Given the description of an element on the screen output the (x, y) to click on. 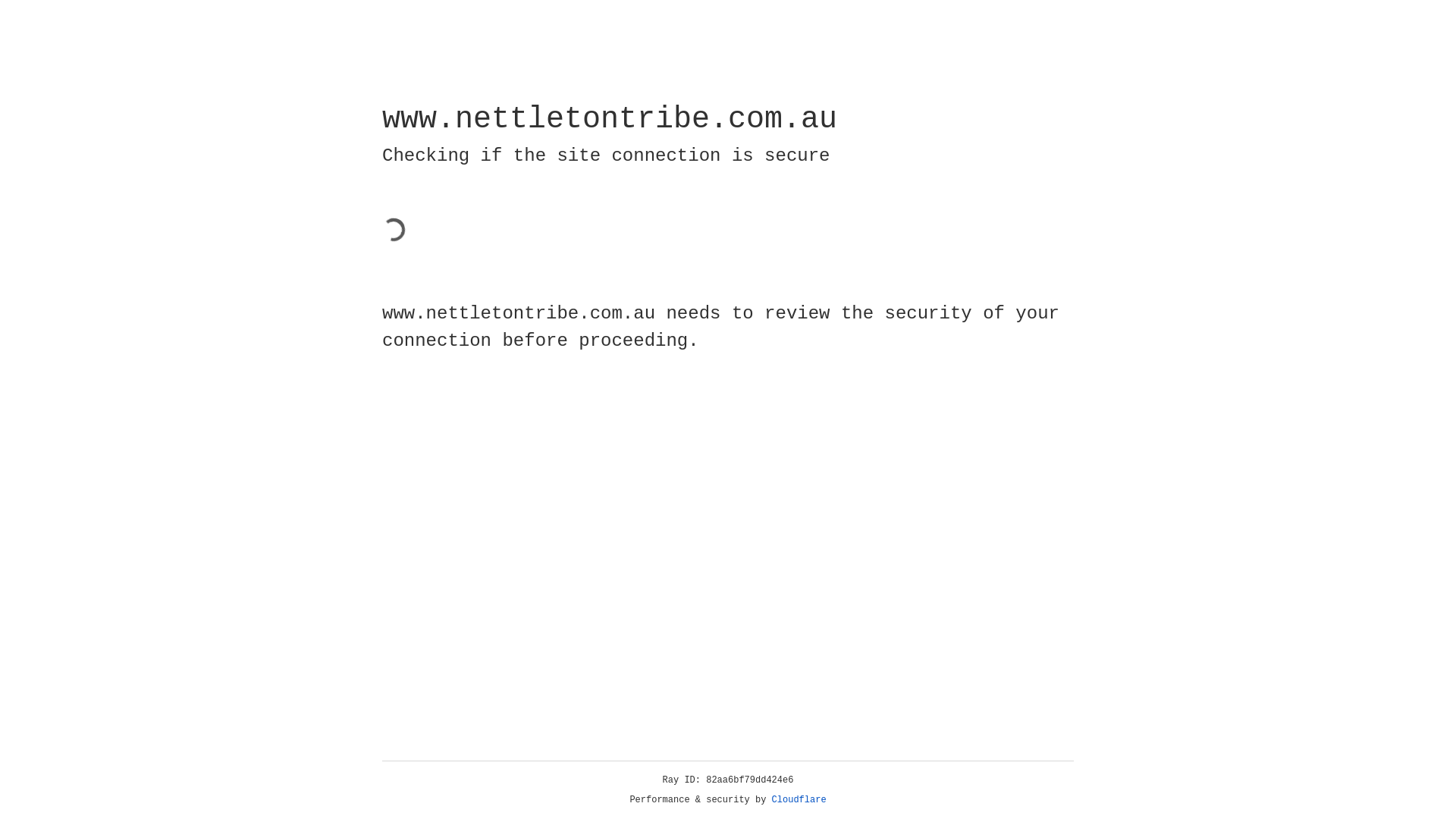
Cloudflare Element type: text (798, 799)
